Given the description of an element on the screen output the (x, y) to click on. 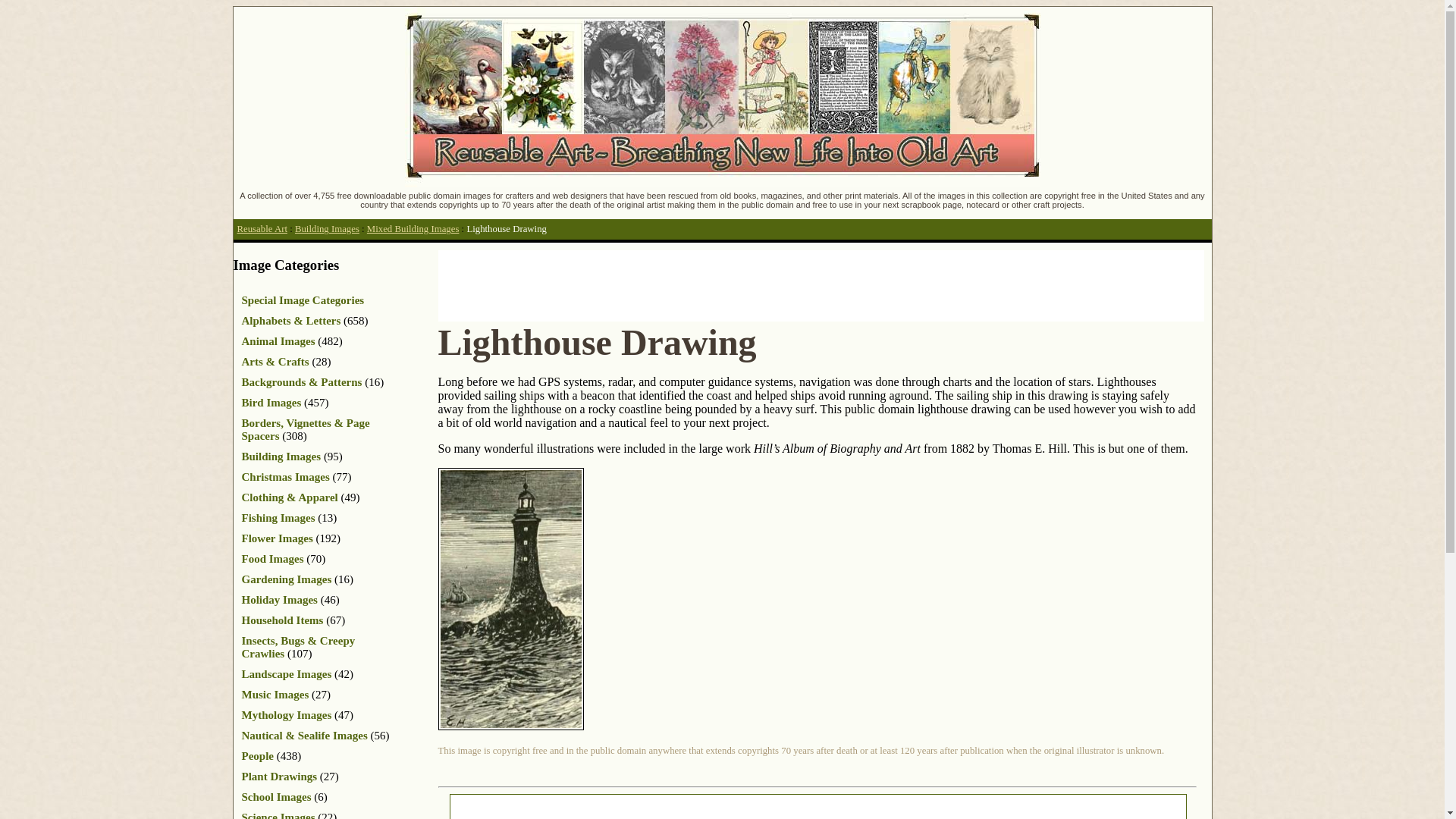
Plant Drawings (279, 776)
Holiday Images (279, 599)
Music Images (274, 694)
Food Images (271, 558)
Gardening Images (286, 579)
Mythology Images (286, 715)
Animal Images (277, 340)
Science Images (277, 815)
Flower Images (277, 538)
People (257, 756)
